Given the description of an element on the screen output the (x, y) to click on. 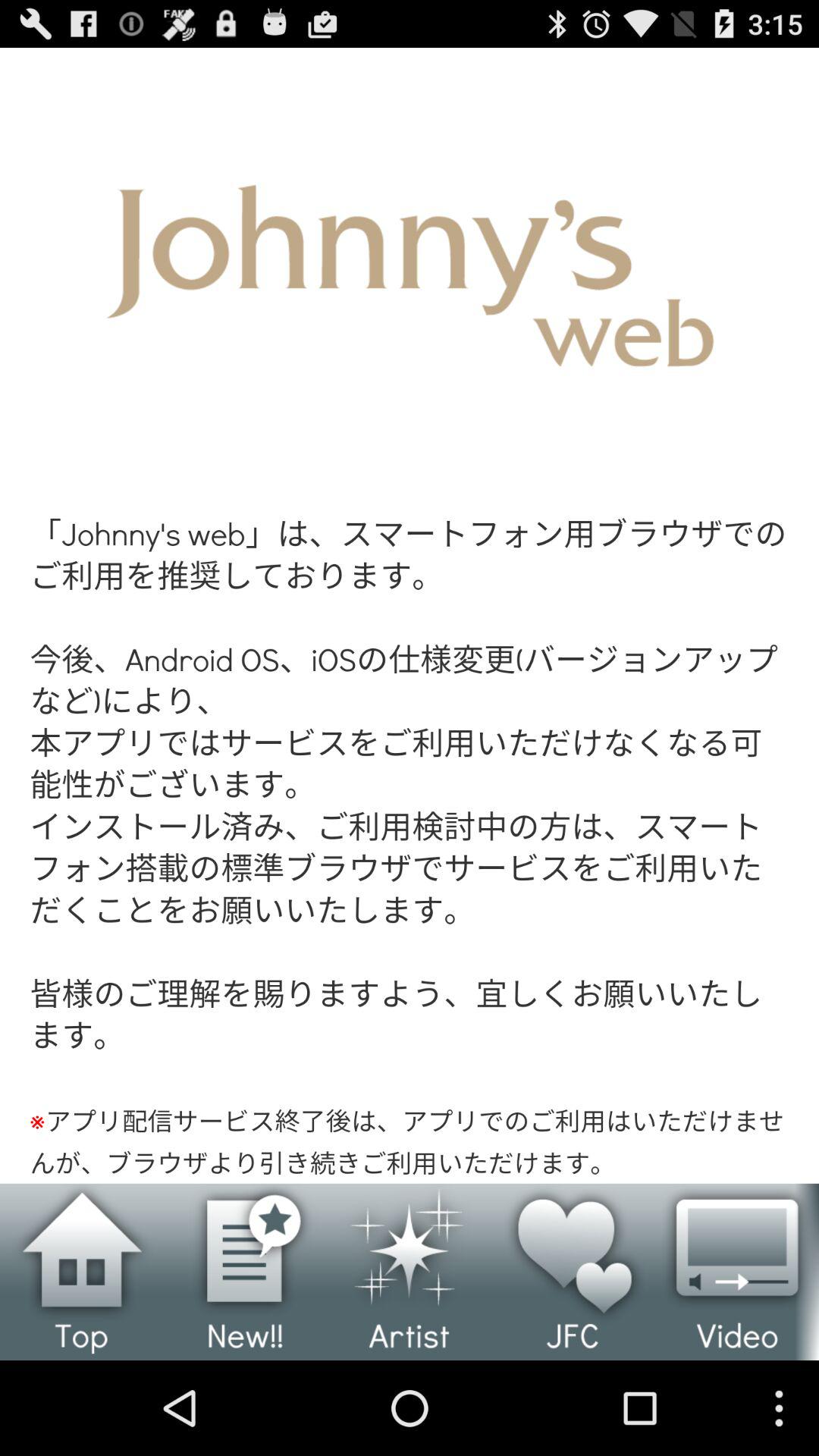
house for home/top (81, 1271)
